Given the description of an element on the screen output the (x, y) to click on. 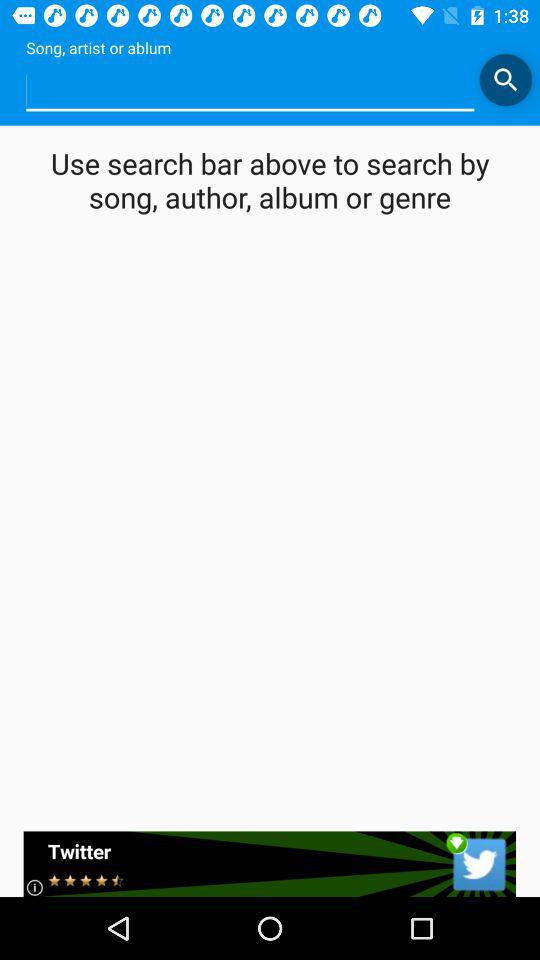
search bar (505, 79)
